Given the description of an element on the screen output the (x, y) to click on. 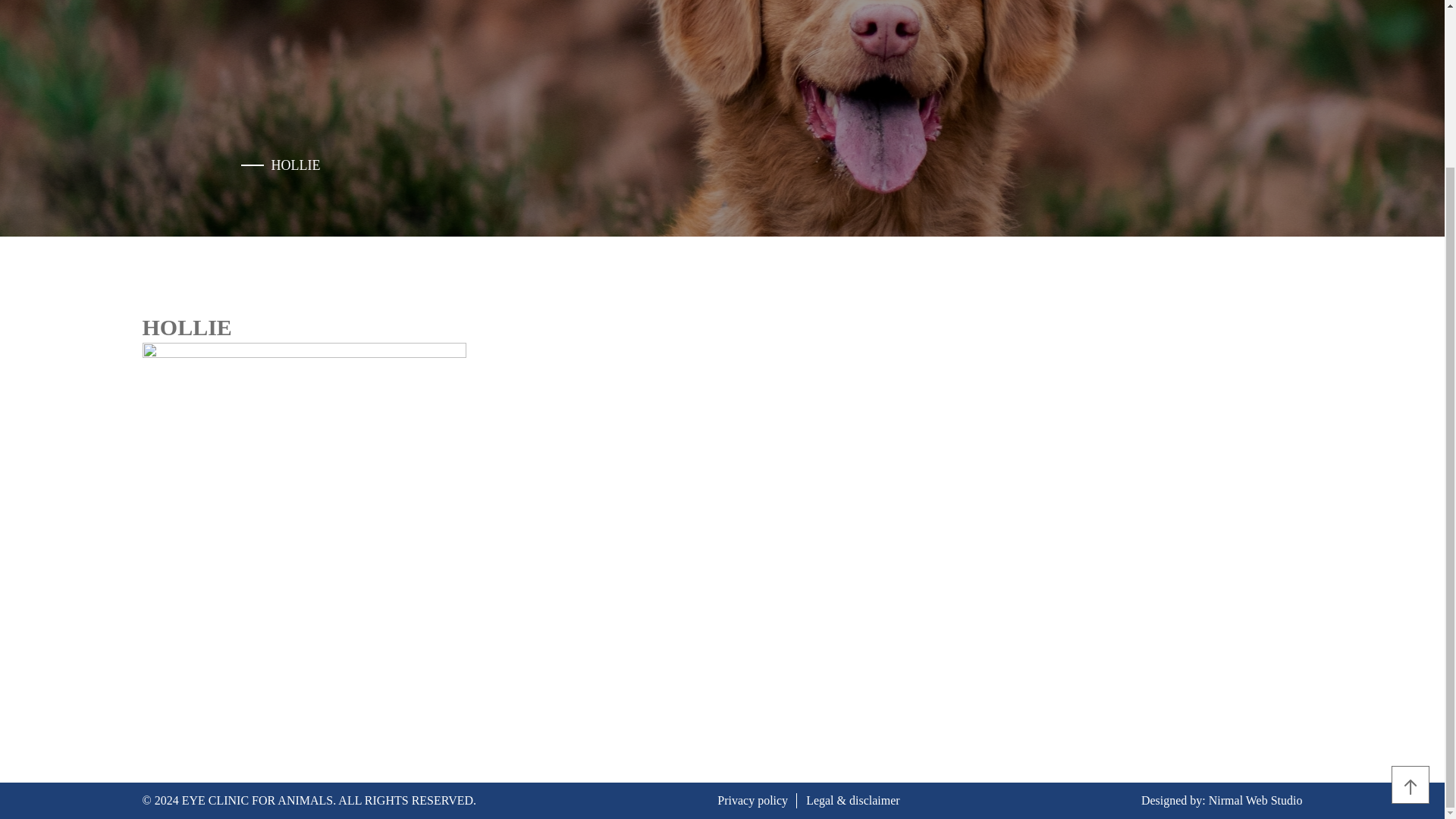
Privacy policy (752, 799)
